Given the description of an element on the screen output the (x, y) to click on. 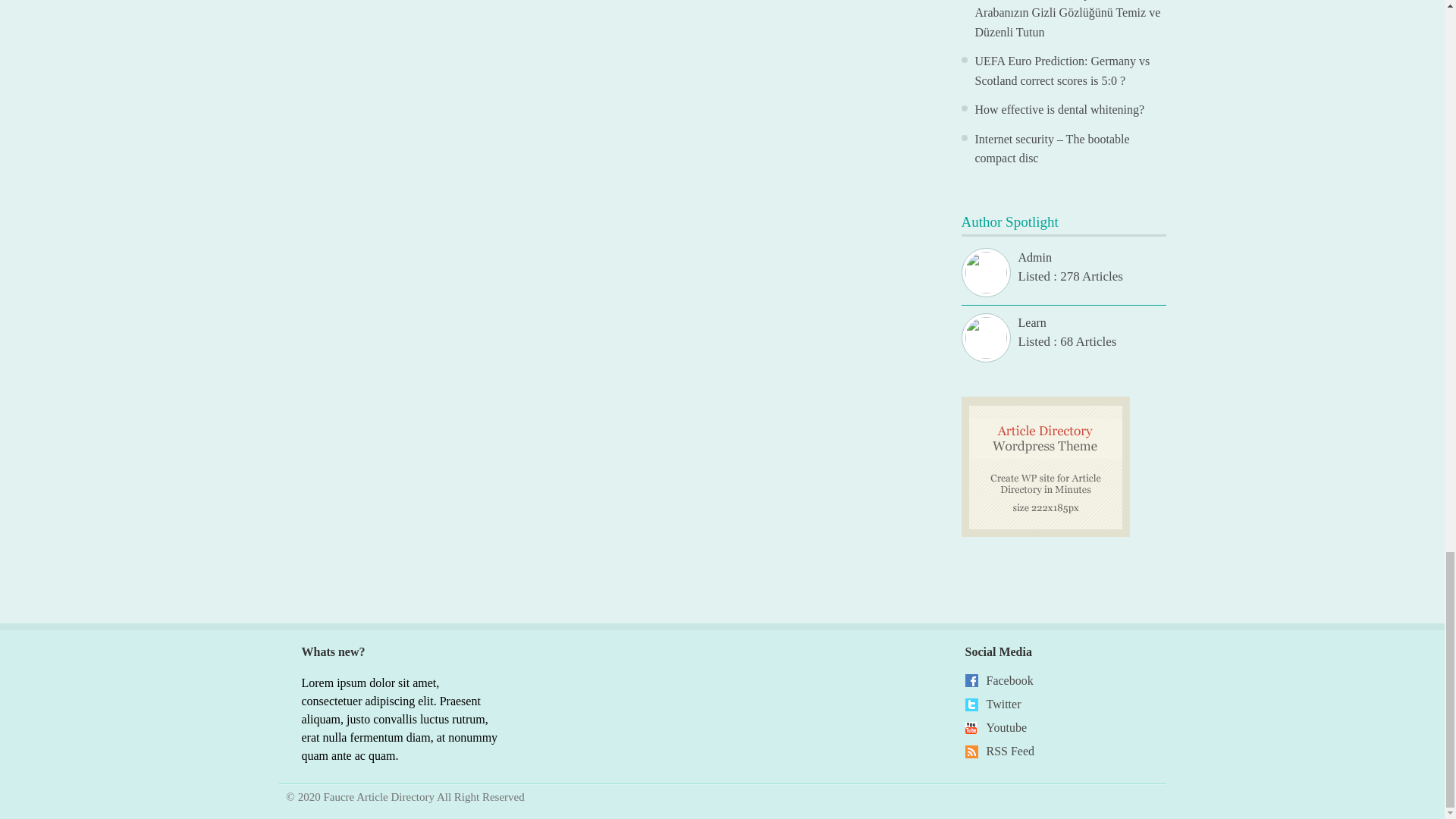
How effective is dental whitening? (1059, 109)
